Given the description of an element on the screen output the (x, y) to click on. 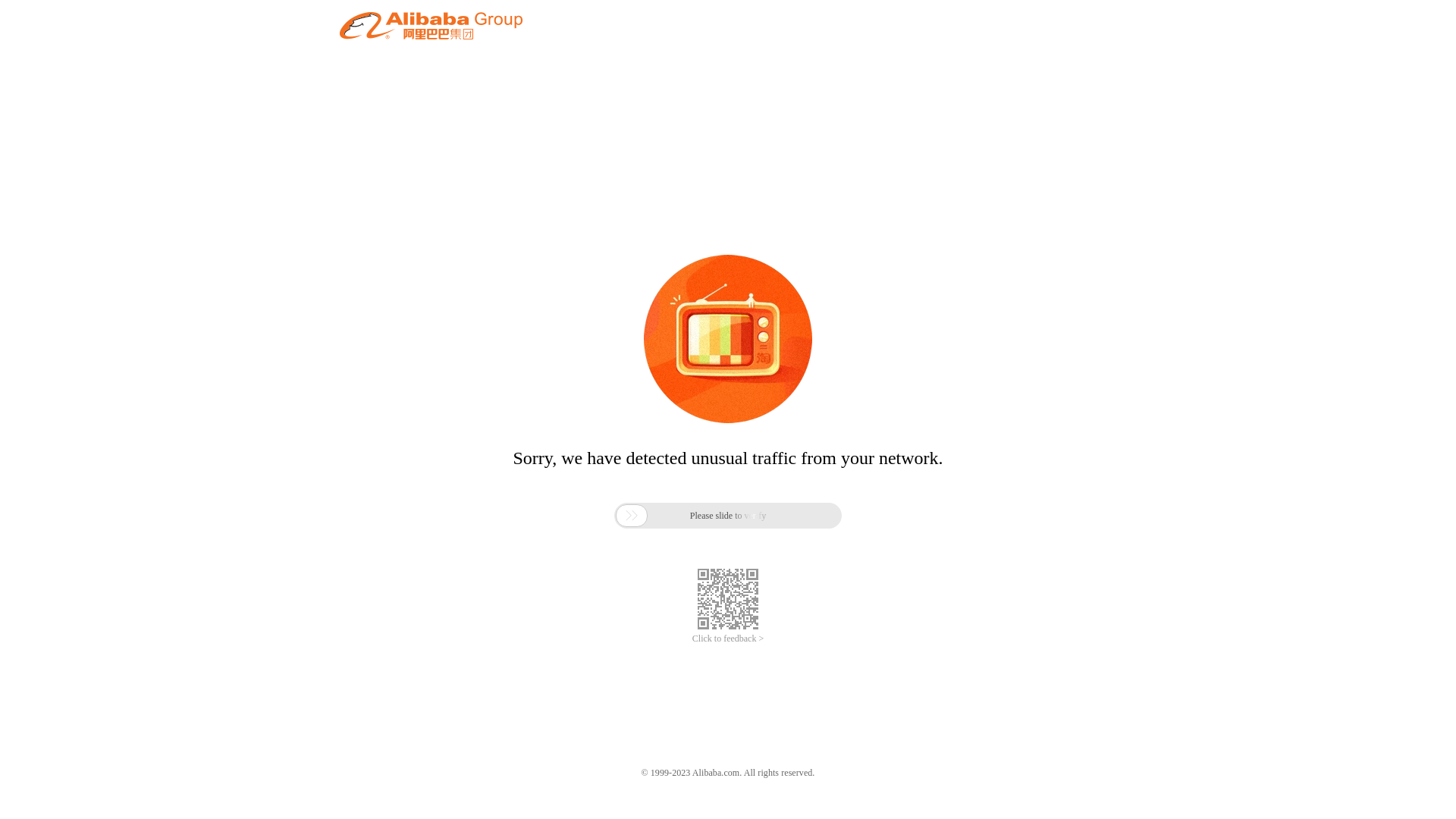
Click to feedback > Element type: text (727, 638)
